Given the description of an element on the screen output the (x, y) to click on. 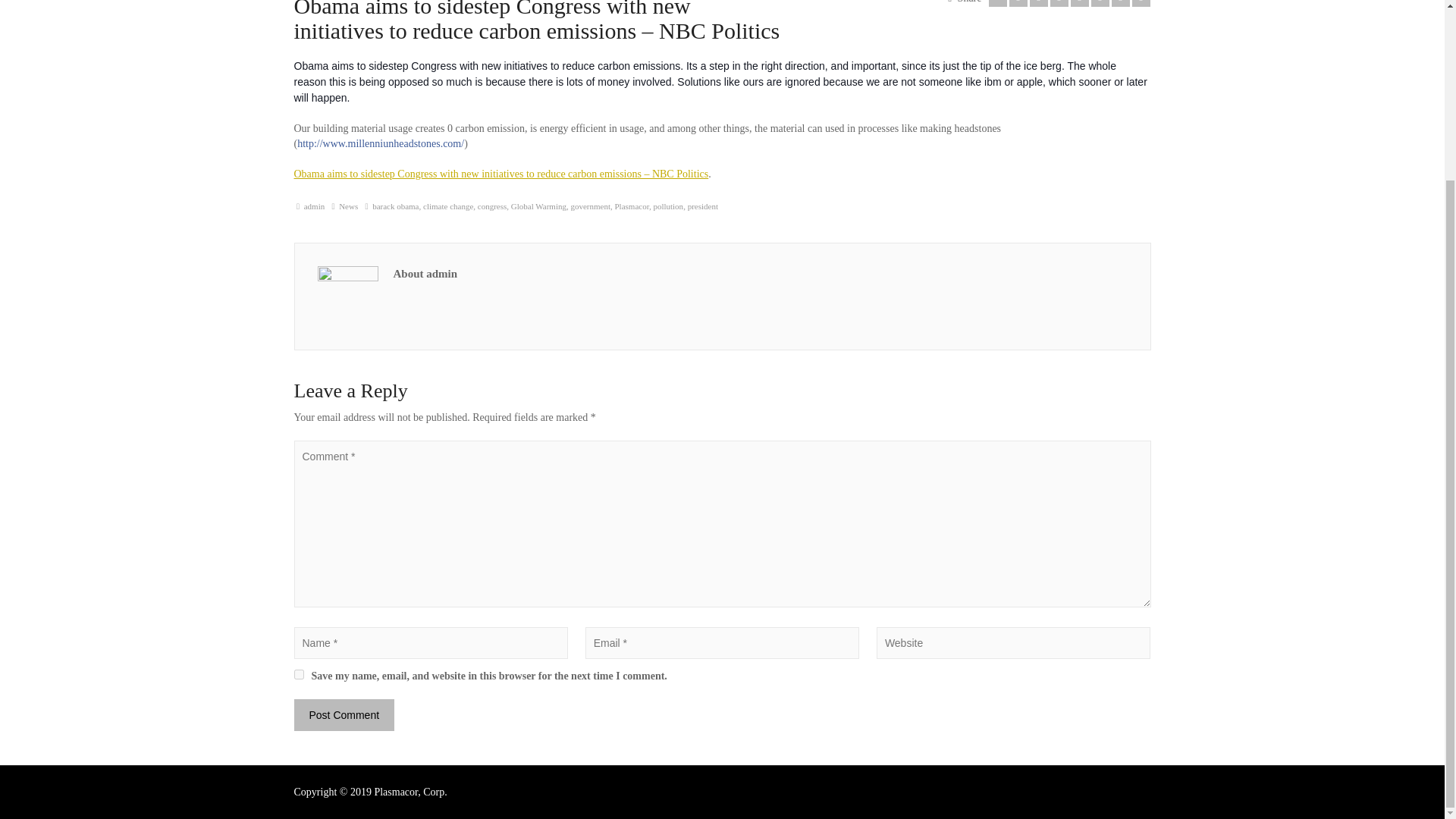
Linkedin (1120, 3)
pollution (667, 205)
Pinterest (1079, 3)
climate change (448, 205)
Global Warming (538, 205)
president (702, 205)
government (590, 205)
Email (997, 3)
barack obama (395, 205)
admin (314, 205)
Tumblr (1099, 3)
Vkontakte (1141, 3)
Post Comment (344, 715)
Twitter (1018, 3)
congress (491, 205)
